Given the description of an element on the screen output the (x, y) to click on. 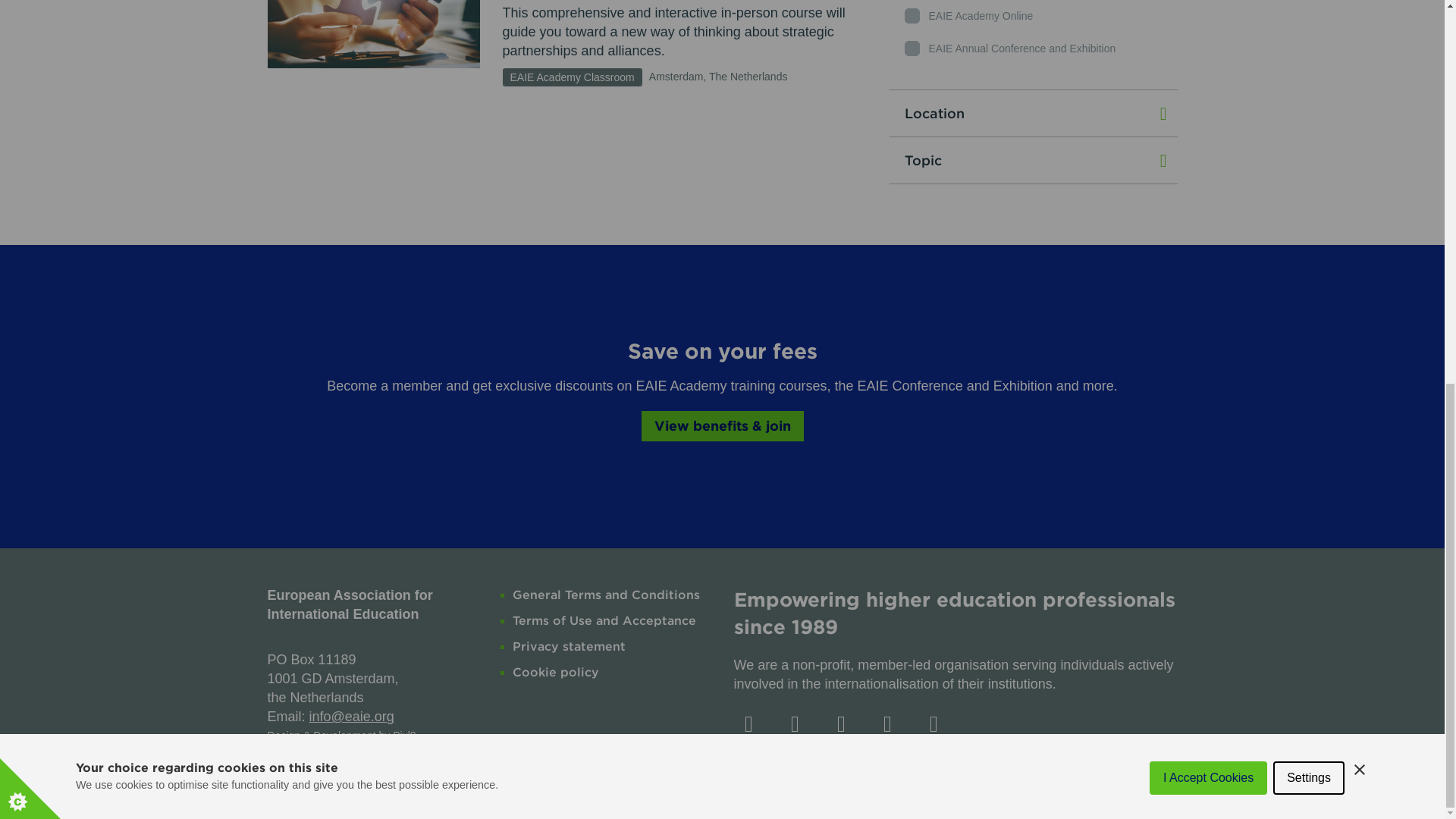
Settings (1307, 100)
I Accept Cookies (1208, 107)
